Given the description of an element on the screen output the (x, y) to click on. 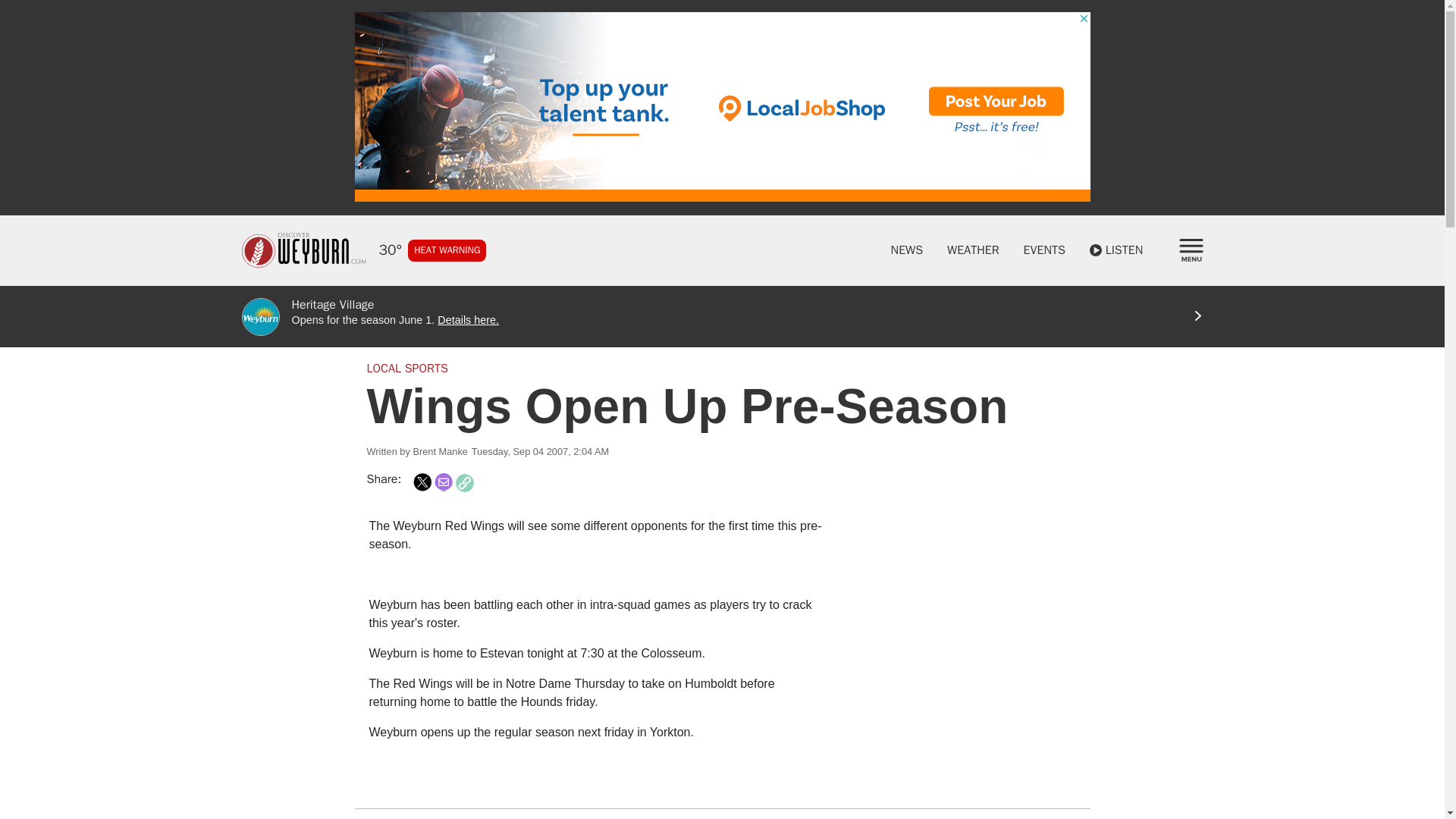
Copy Link (464, 483)
Share to Email (442, 482)
3rd party ad content (961, 611)
